Given the description of an element on the screen output the (x, y) to click on. 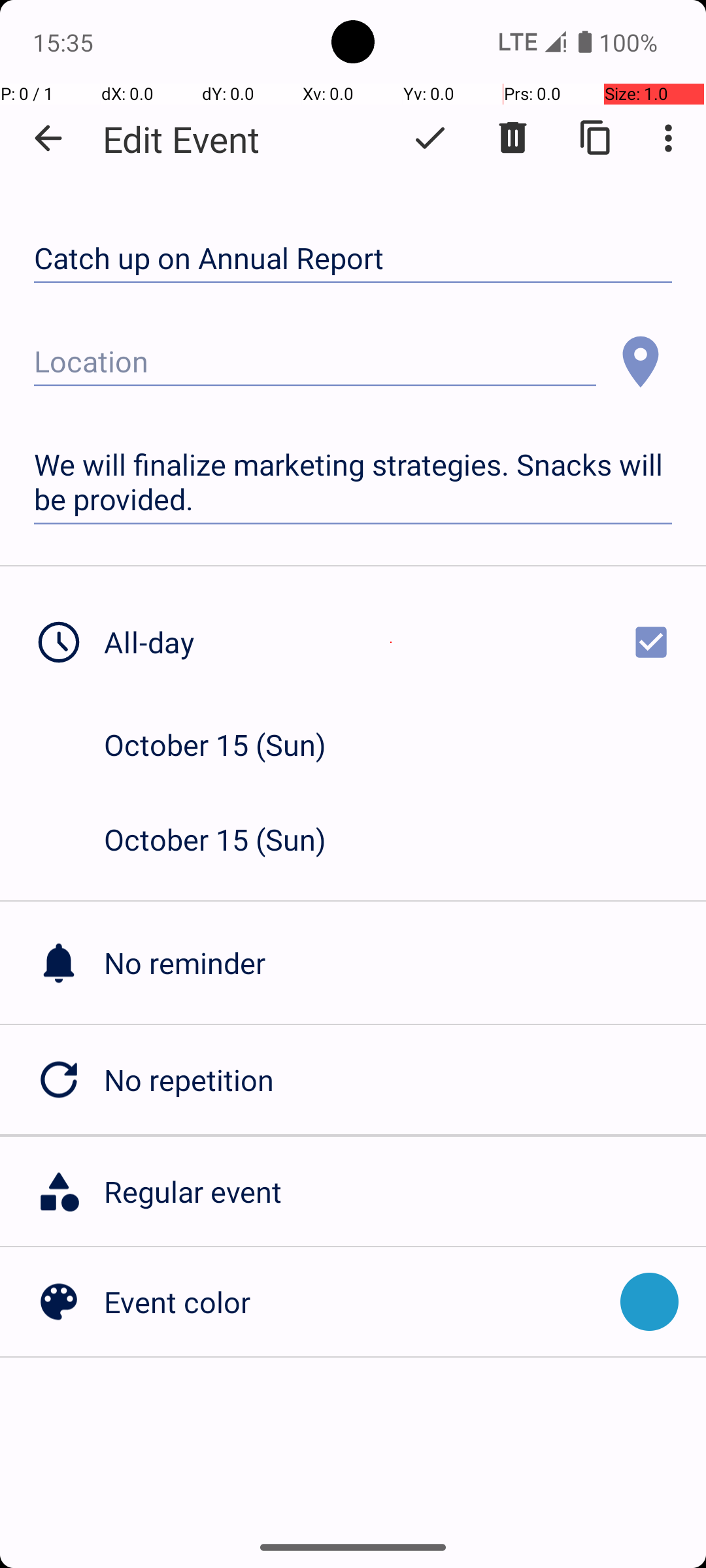
We will finalize marketing strategies. Snacks will be provided. Element type: android.widget.EditText (352, 482)
